Given the description of an element on the screen output the (x, y) to click on. 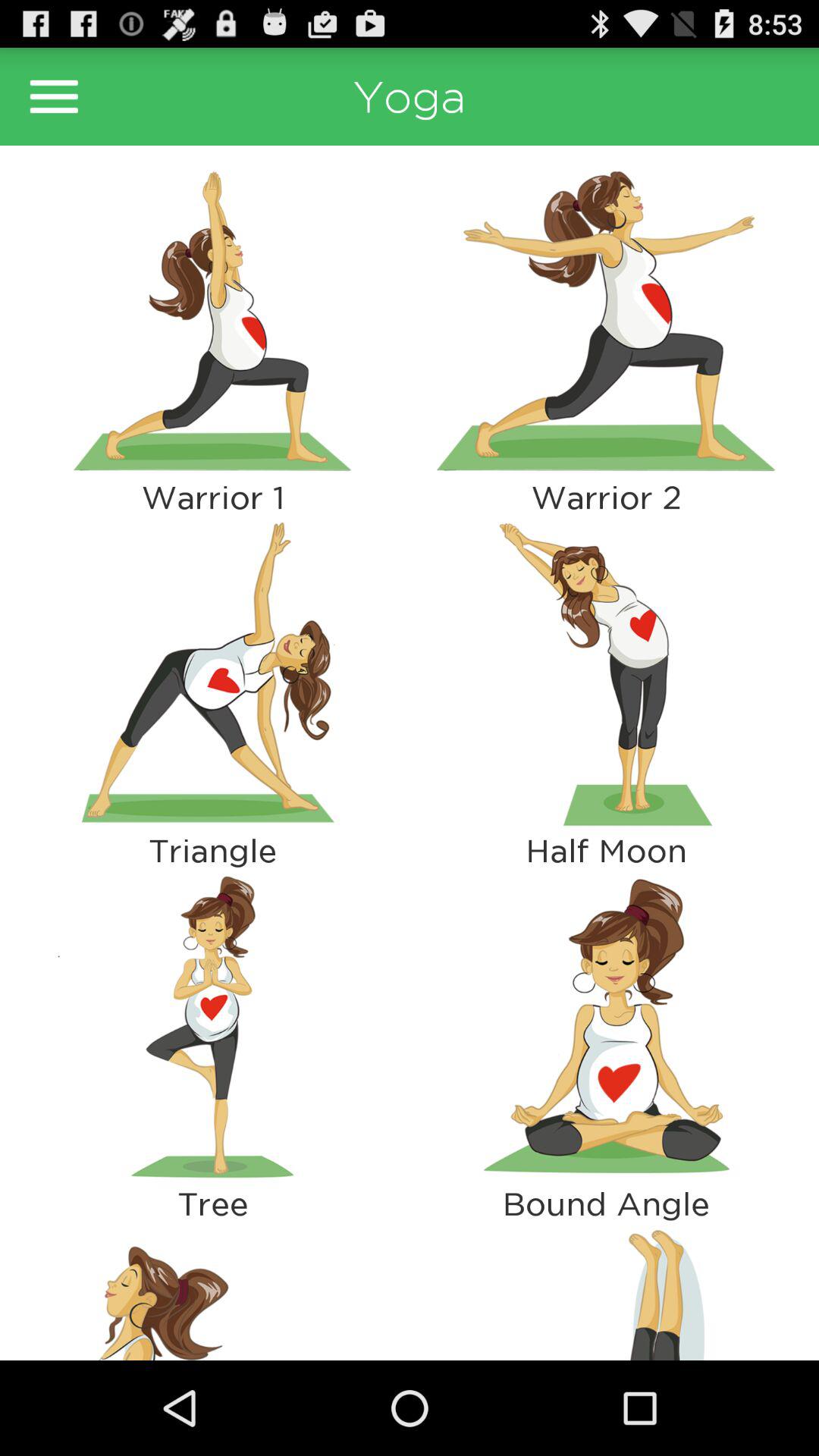
go to main page (53, 96)
